Given the description of an element on the screen output the (x, y) to click on. 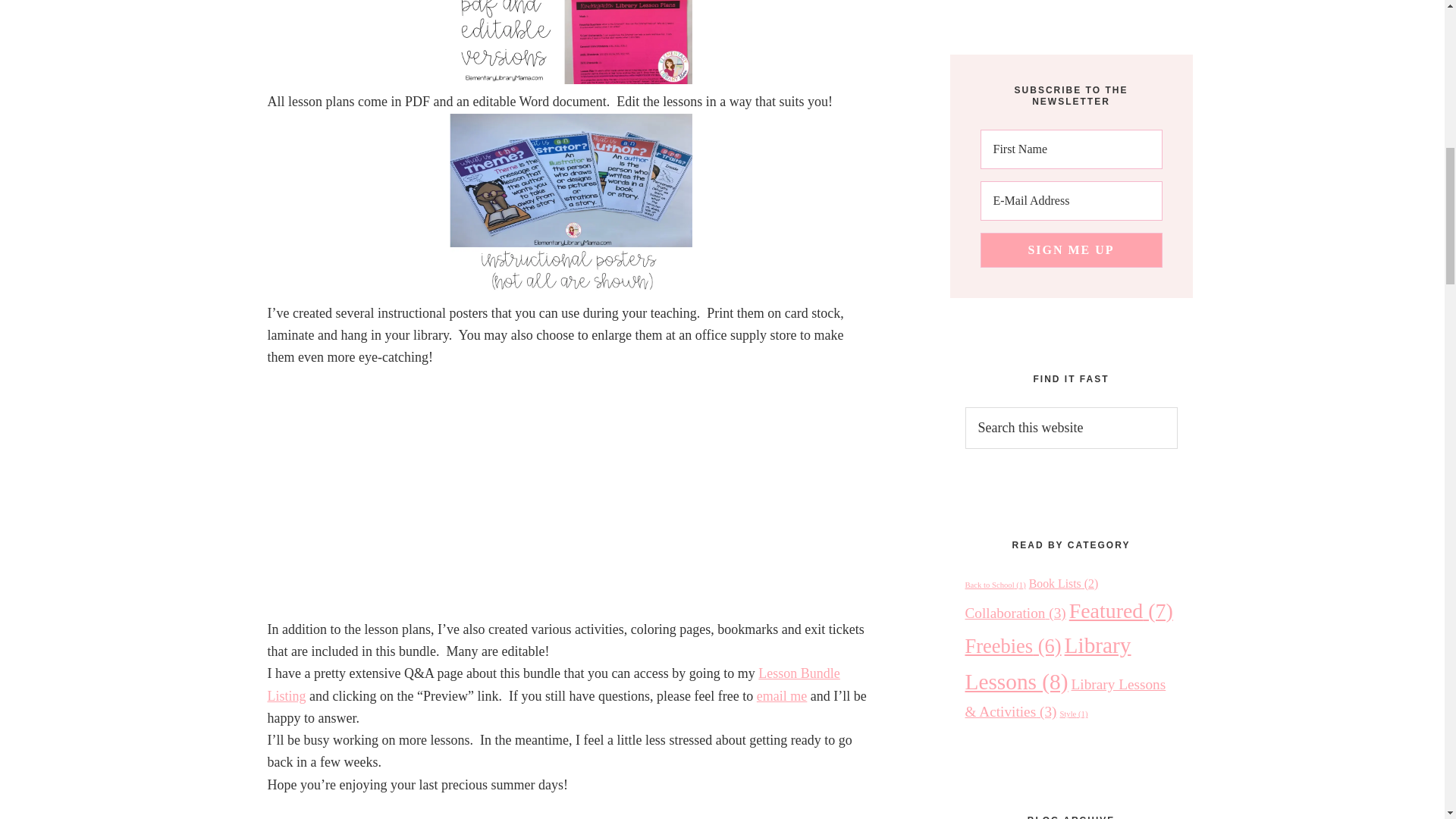
SIGN ME UP (1070, 249)
email me (781, 695)
Lesson Bundle Listing (553, 683)
